Given the description of an element on the screen output the (x, y) to click on. 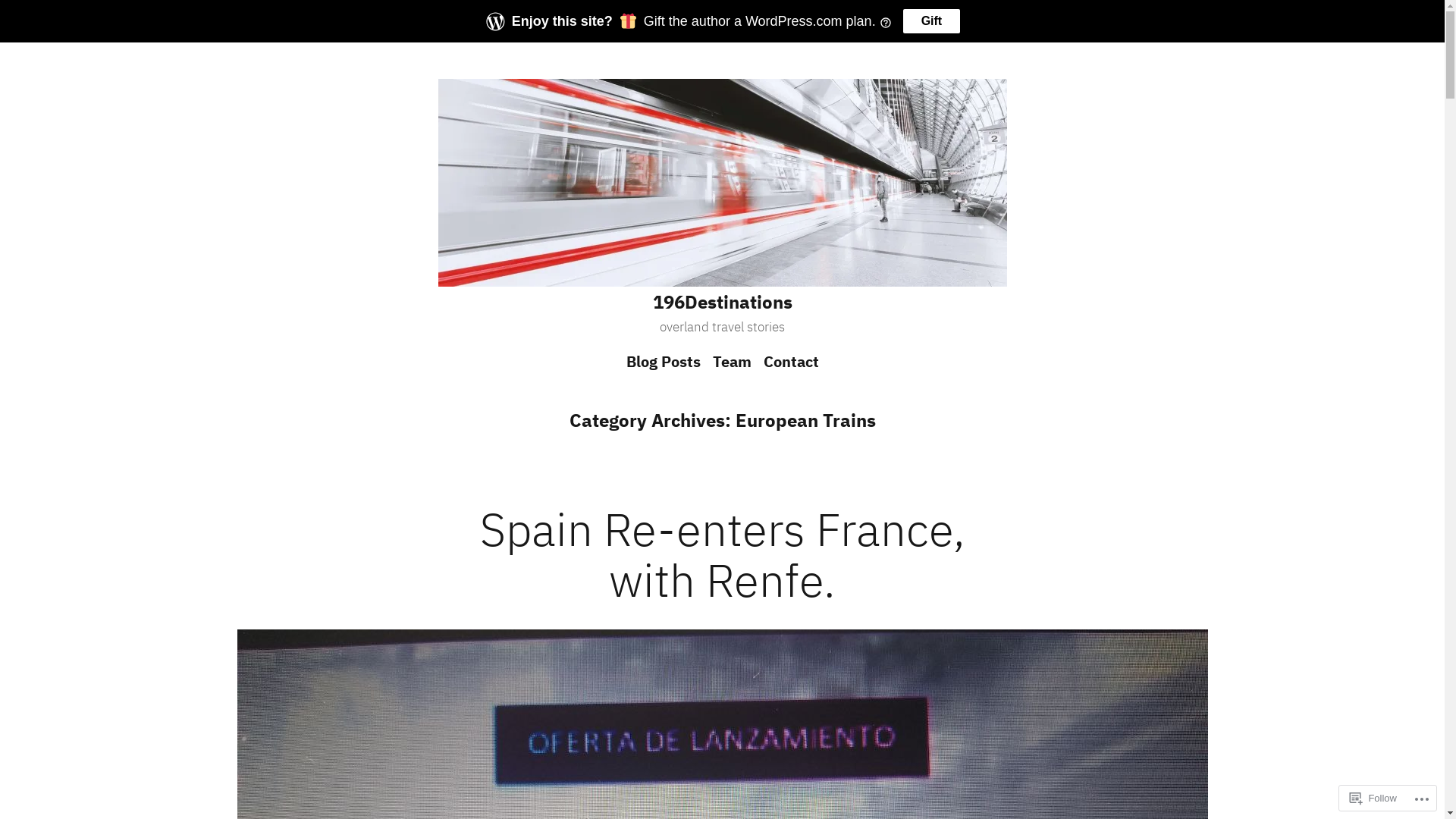
Follow Element type: text (1372, 797)
Gift Element type: text (931, 21)
Blog Posts Element type: text (666, 361)
196Destinations Element type: text (721, 301)
Contact Element type: text (787, 361)
Spain Re-enters France, with Renfe. Element type: text (721, 553)
Team Element type: text (731, 361)
